Given the description of an element on the screen output the (x, y) to click on. 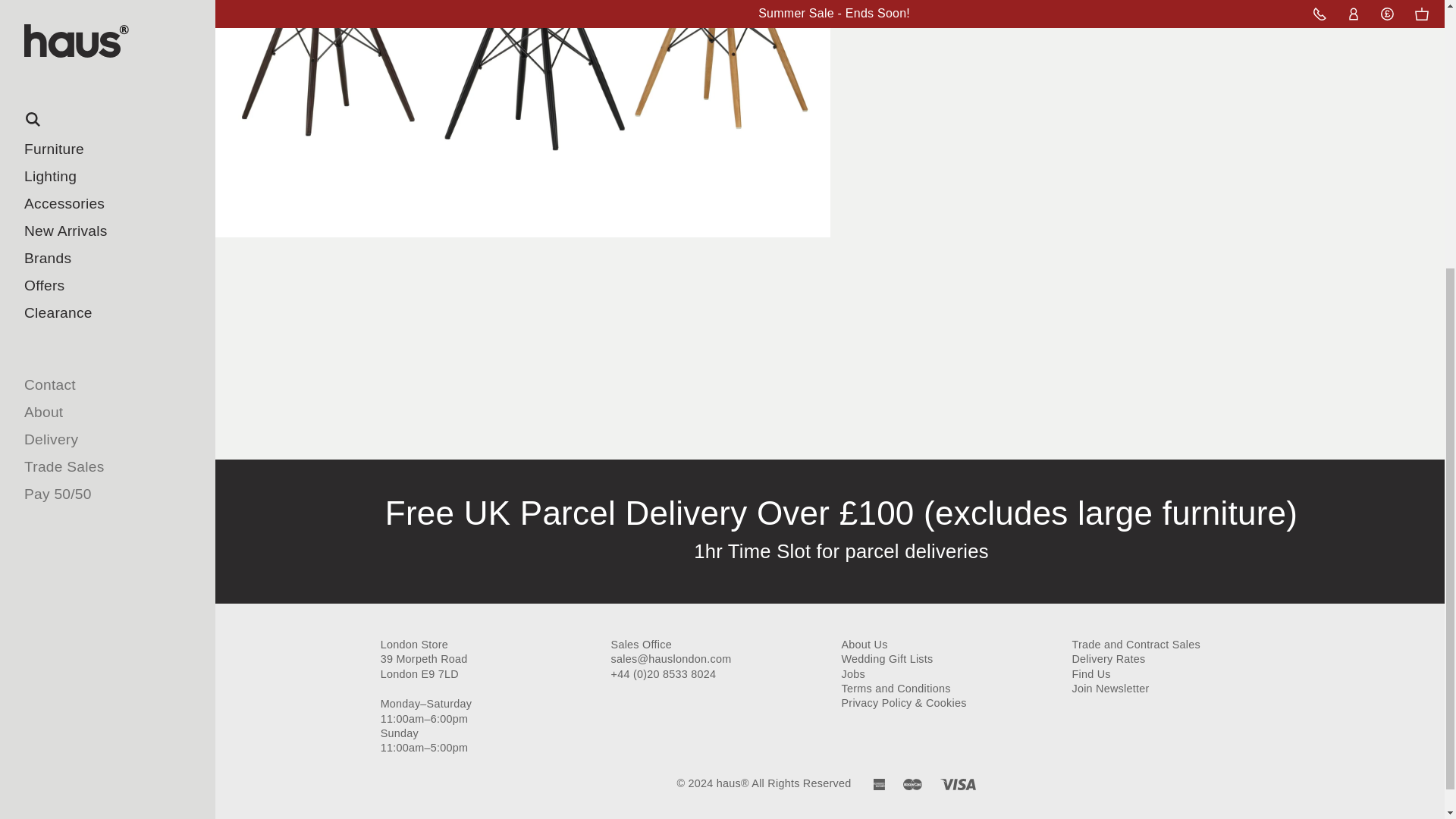
String System (75, 46)
Storage (75, 19)
Outdoor (75, 73)
Designed for Kids (75, 101)
Beds (75, 3)
